Given the description of an element on the screen output the (x, y) to click on. 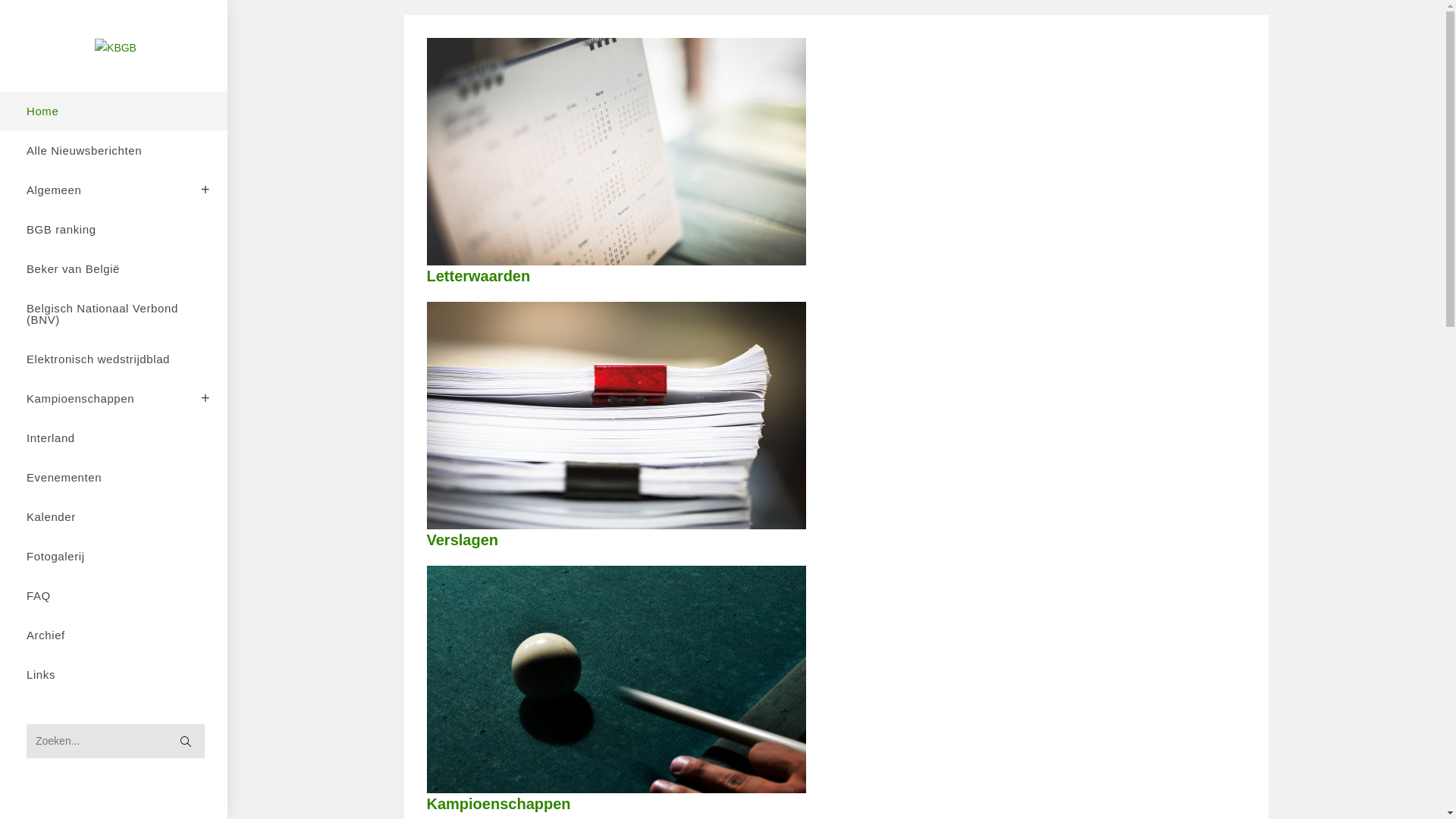
BGB ranking Element type: text (113, 229)
Letterwaarden Element type: text (478, 275)
Elektronisch wedstrijdblad Element type: text (113, 358)
image-2019-01-28 Element type: hover (615, 679)
Interland Element type: text (113, 437)
Verslagen Element type: text (462, 539)
Kampioenschappen Element type: text (113, 398)
Kampioenschappen Element type: text (498, 803)
Evenementen Element type: text (113, 477)
Alle Nieuwsberichten Element type: text (113, 150)
Home Element type: text (113, 110)
Algemeen Element type: text (113, 189)
Archief Element type: text (113, 634)
Fotogalerij Element type: text (113, 555)
Verzend zoekopdracht Element type: text (185, 741)
FAQ Element type: text (113, 595)
Links Element type: text (113, 674)
Kalender Element type: text (113, 516)
shutterstock_399116026 Element type: hover (615, 151)
shutterstock_416873602 Element type: hover (615, 415)
Belgisch Nationaal Verbond (BNV) Element type: text (113, 313)
